Given the description of an element on the screen output the (x, y) to click on. 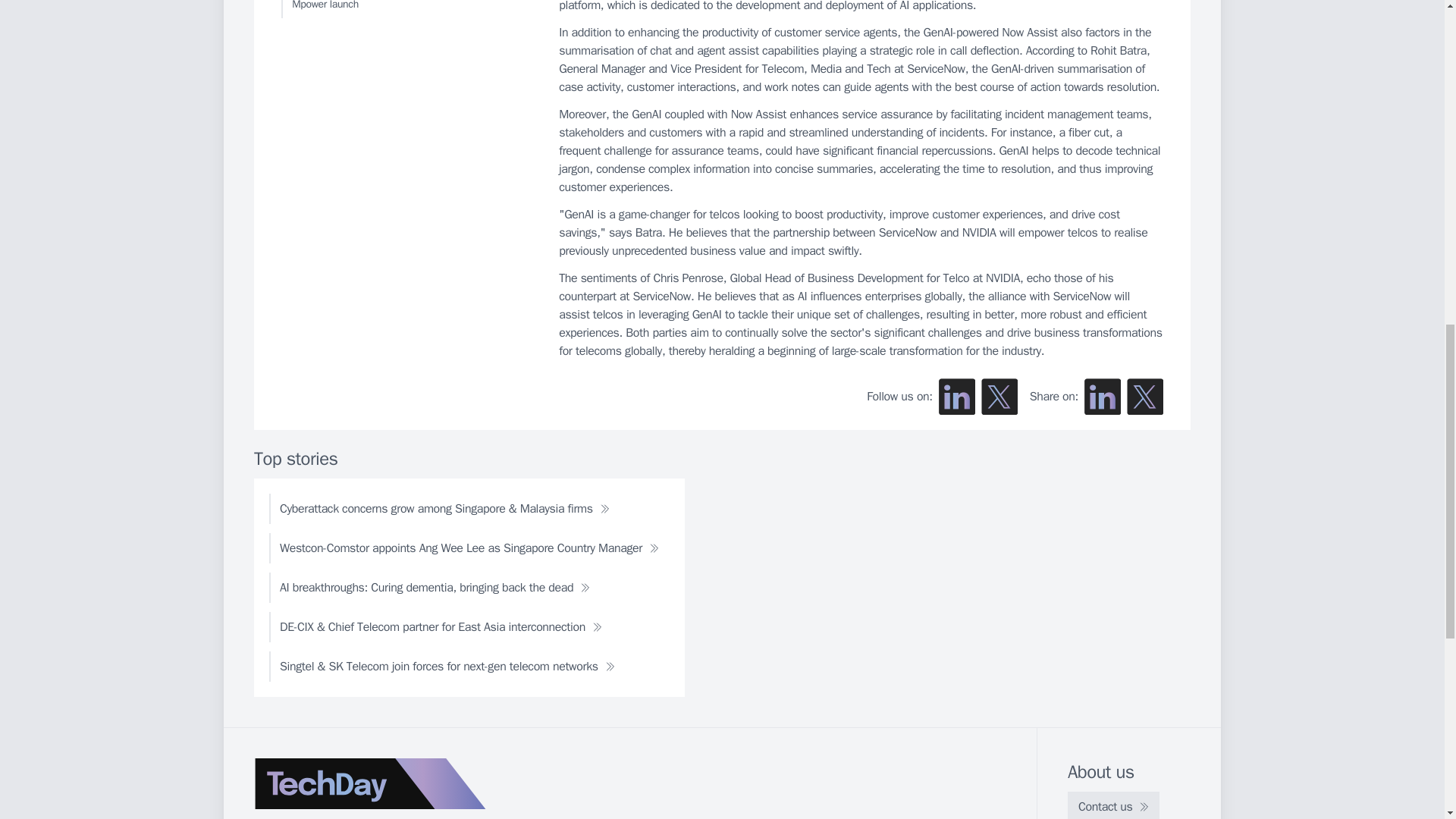
NICE named leader in IDC MarketScape for CXone Mpower launch (406, 9)
AI breakthroughs: Curing dementia, bringing back the dead (434, 587)
